Given the description of an element on the screen output the (x, y) to click on. 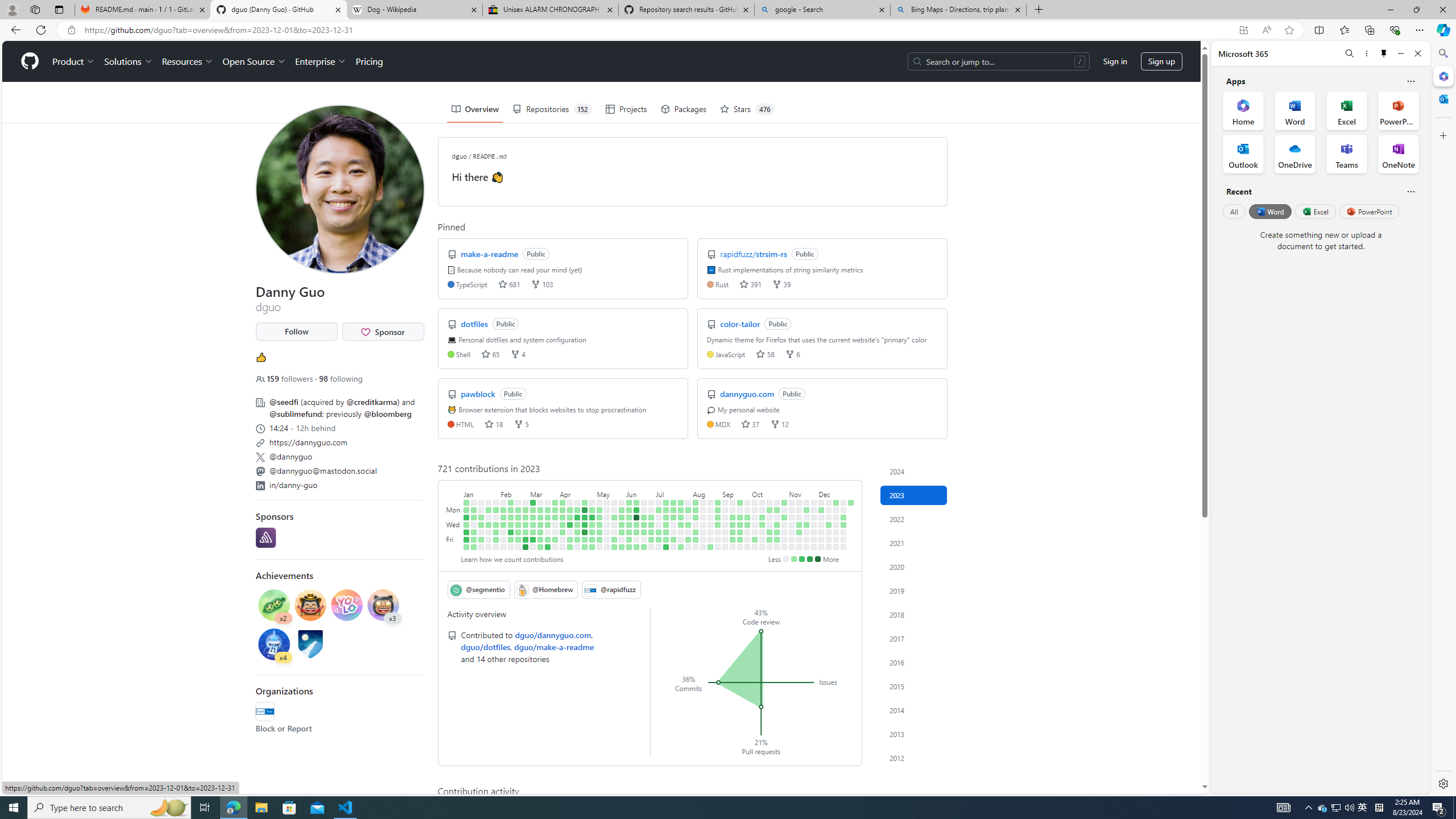
No contributions on May 21st. (614, 502)
in/danny-guo (293, 484)
2019 (913, 590)
Is this helpful? (1410, 191)
10 contributions on May 2nd. (592, 517)
12 contributions on January 6th. (466, 539)
2020 (913, 566)
No contributions on May 22nd. (614, 509)
1 contribution on August 4th. (688, 539)
No contributions on December 8th. (821, 539)
No contributions on June 26th. (651, 509)
8 contributions on March 26th. (555, 502)
No contributions on September 23rd. (740, 546)
6 contributions on March 6th. (532, 509)
2 contributions on June 27th. (651, 517)
